Given the description of an element on the screen output the (x, y) to click on. 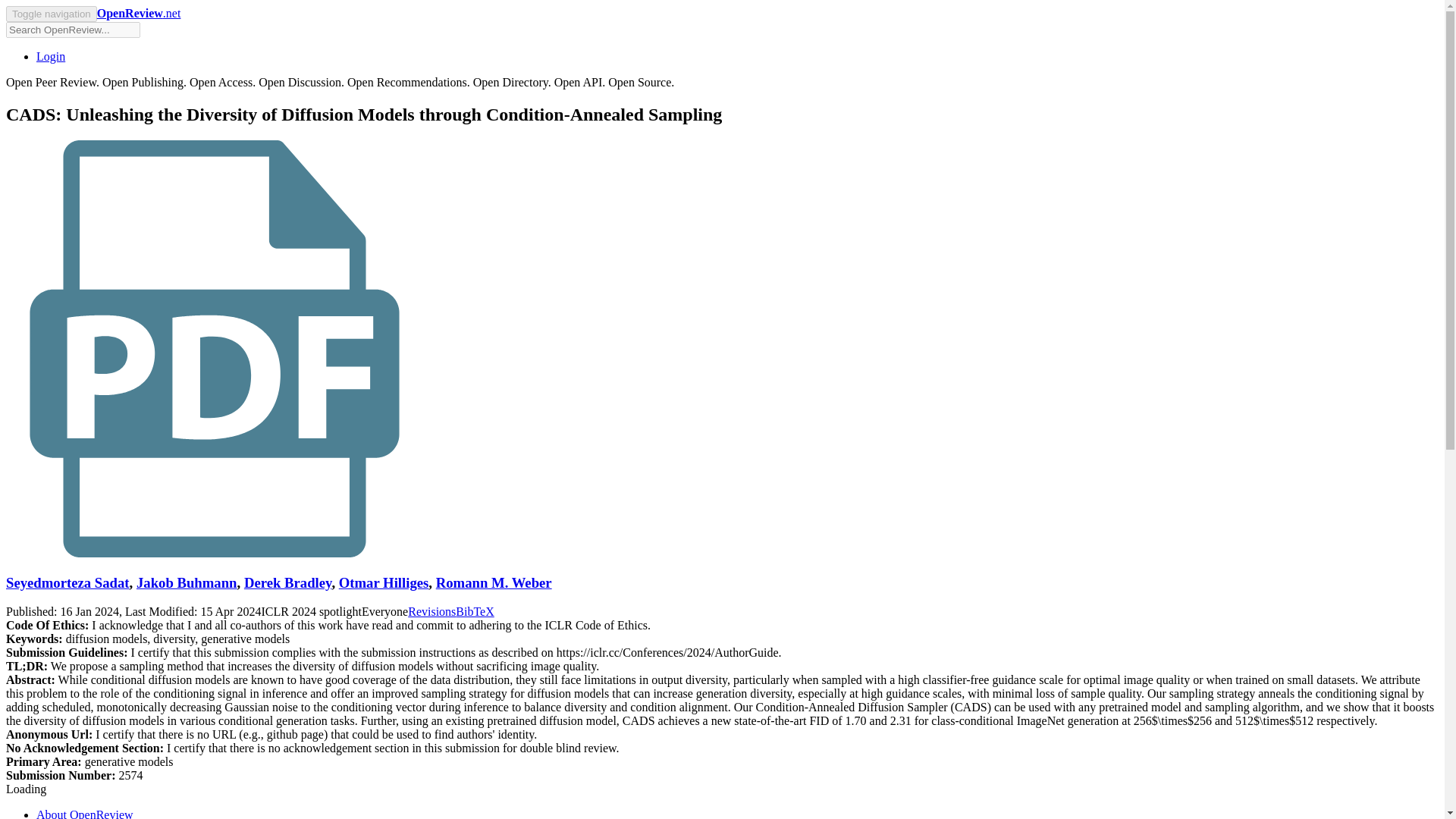
Derek Bradley (287, 582)
Romann M. Weber (493, 582)
Revisions (431, 611)
Login (50, 56)
Download PDF (214, 553)
Seyedmorteza Sadat (67, 582)
BibTeX (474, 611)
Toggle navigation (51, 13)
Otmar Hilliges (384, 582)
OpenReview.net (138, 12)
About OpenReview (84, 813)
Jakob Buhmann (186, 582)
